Given the description of an element on the screen output the (x, y) to click on. 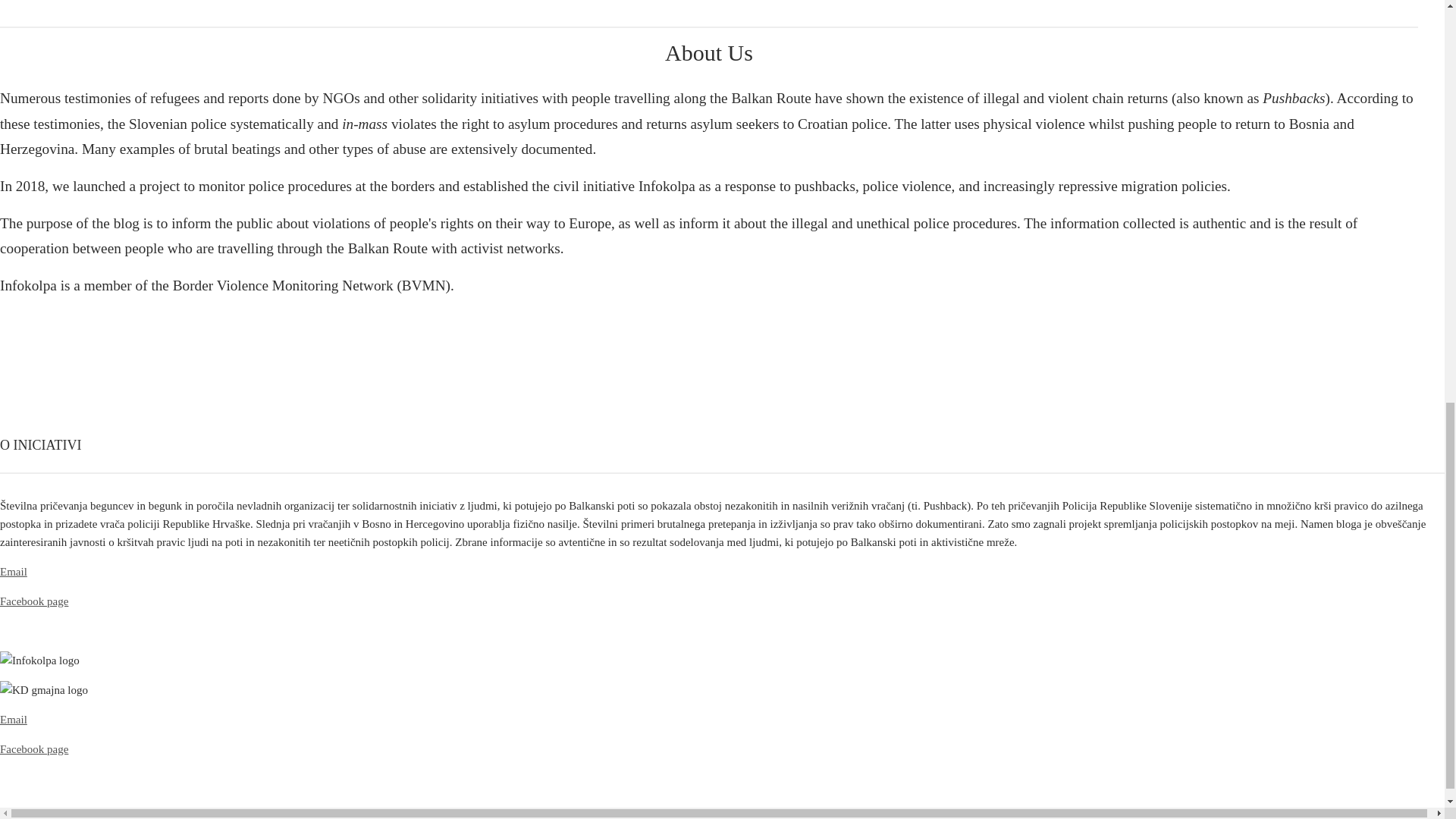
Email (13, 719)
Facebook page (34, 601)
Email (13, 571)
Facebook page (34, 748)
